Given the description of an element on the screen output the (x, y) to click on. 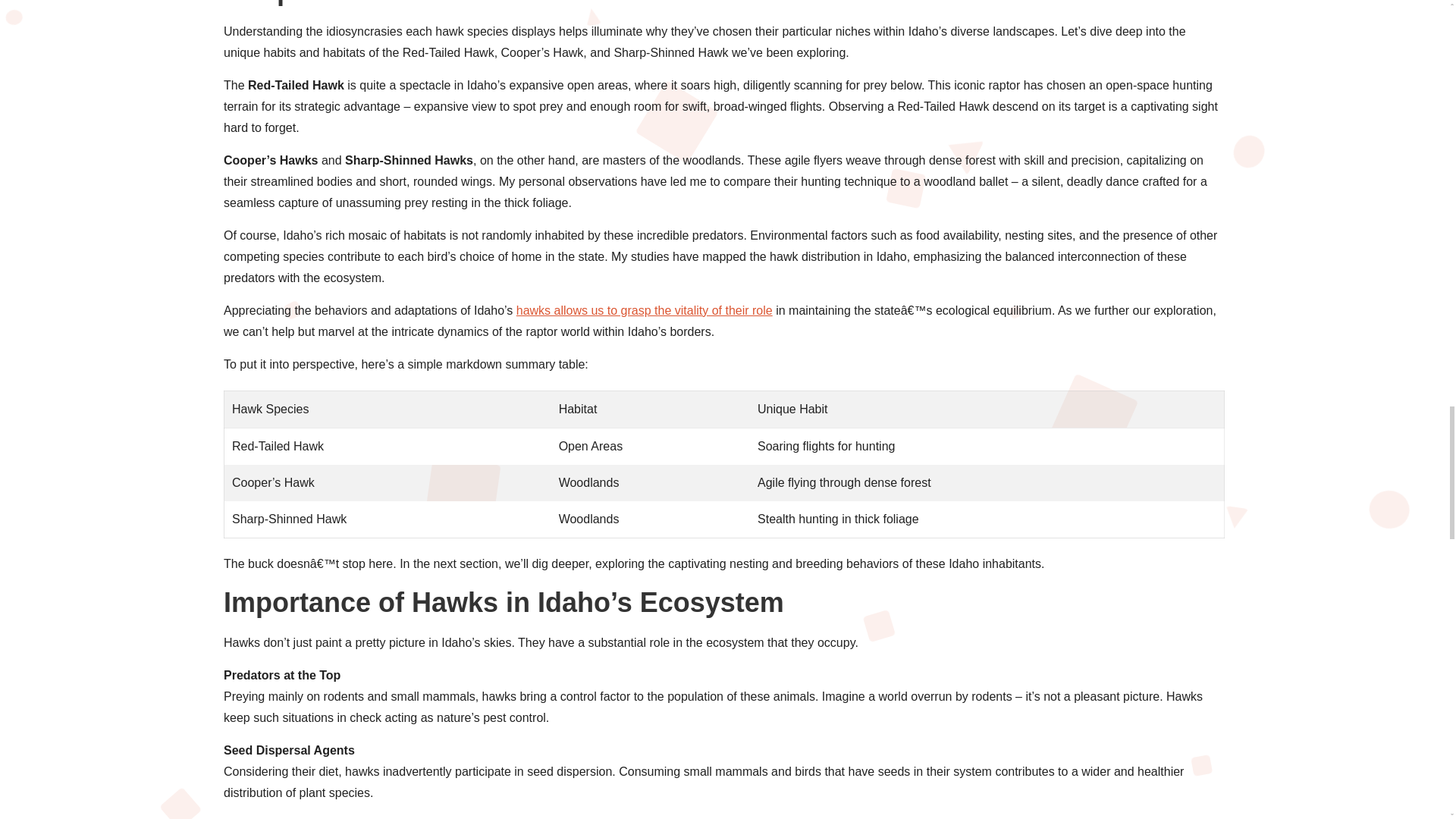
hawks allows us to grasp the vitality of their role (644, 309)
